Given the description of an element on the screen output the (x, y) to click on. 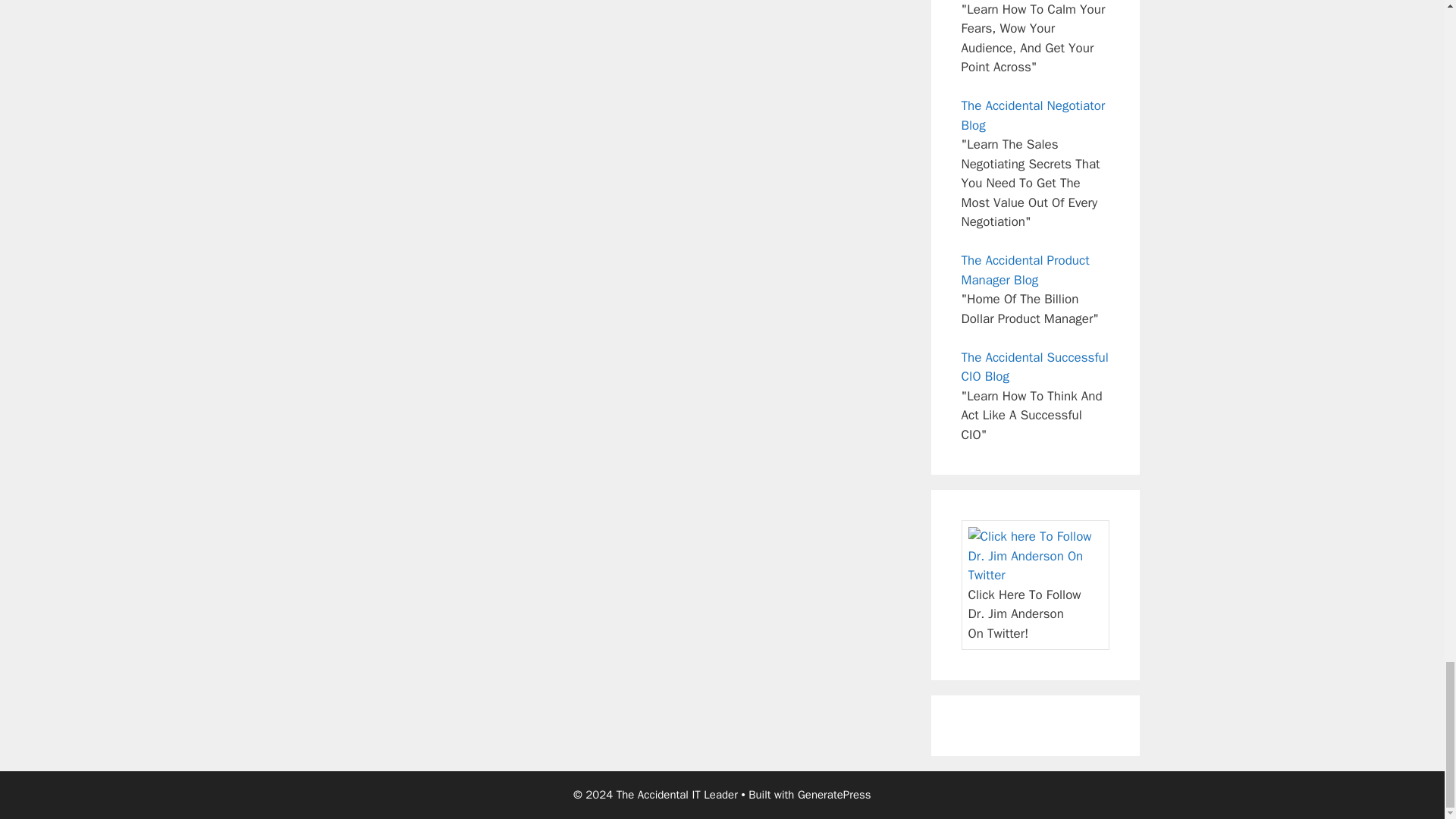
The Accidental Negotiator Blog (1032, 115)
The Accidental Product Manager Blog (1024, 270)
